Given the description of an element on the screen output the (x, y) to click on. 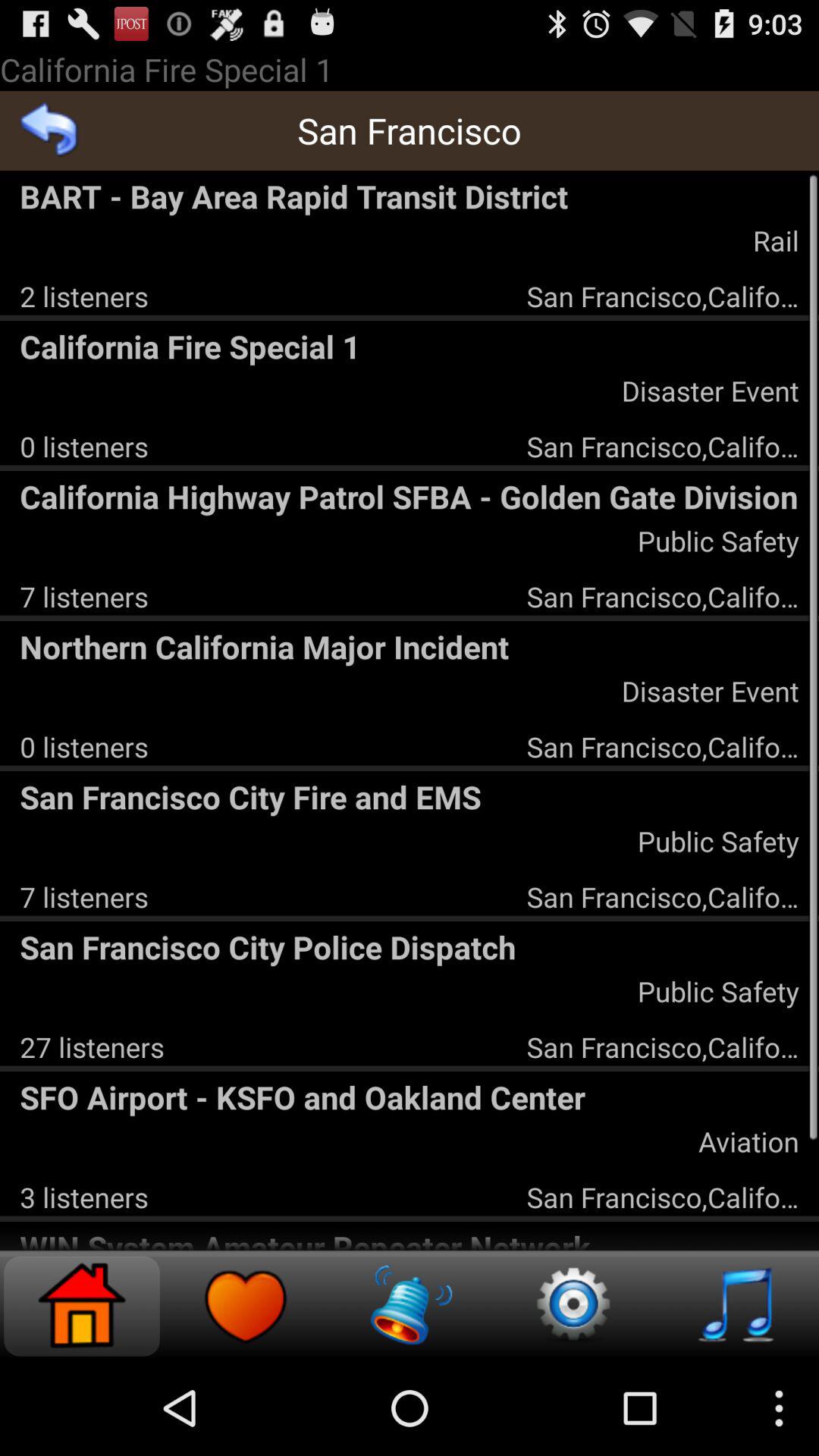
turn on item below the sfo airport ksfo icon (748, 1141)
